Given the description of an element on the screen output the (x, y) to click on. 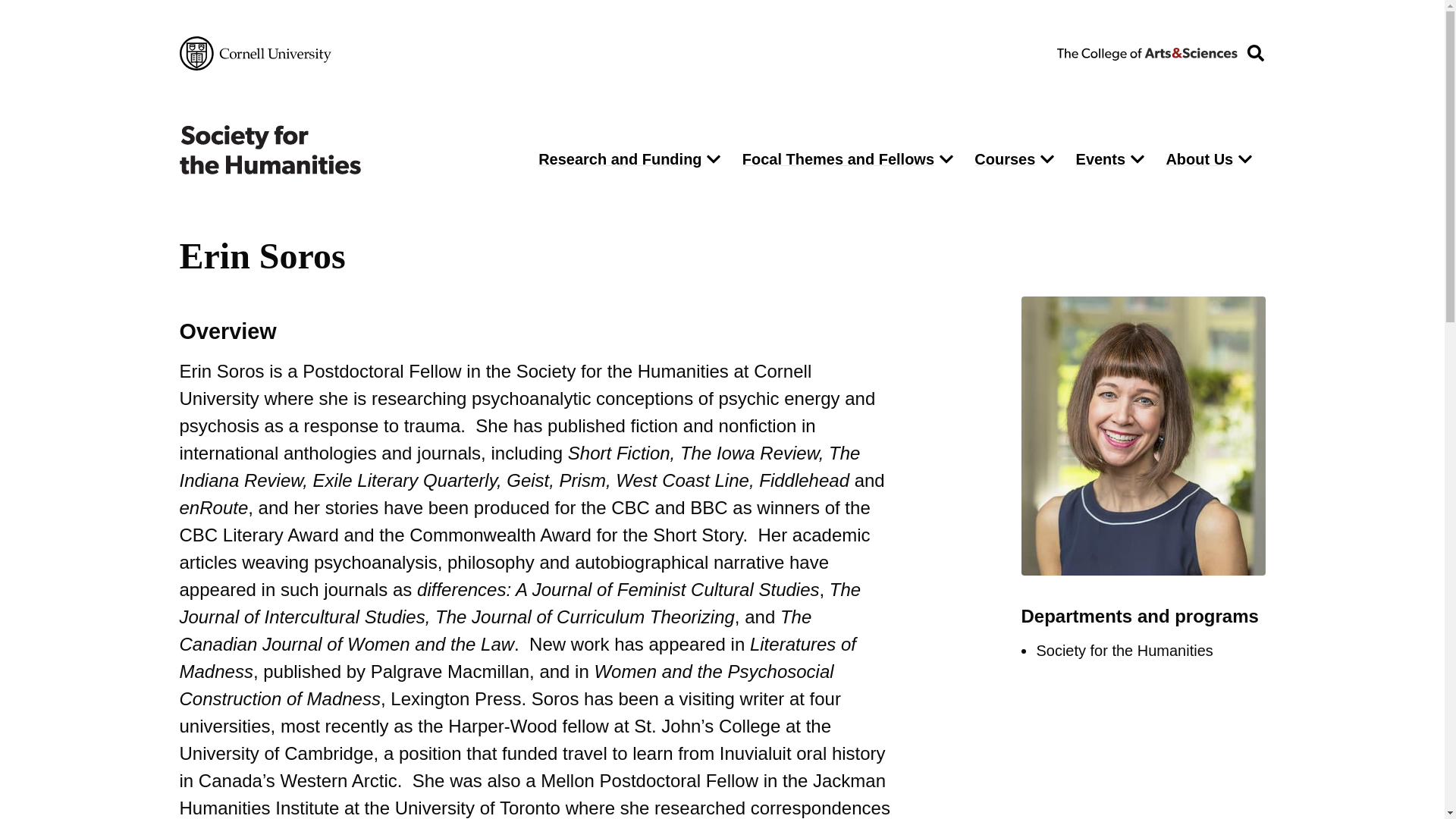
Research and Funding (616, 158)
Courses (1000, 158)
About Us (1195, 158)
Department Homepage (345, 149)
Cornell University (254, 53)
Events (1096, 158)
Cornell University (254, 53)
Open search (1255, 53)
Focal Themes and Fellows (834, 158)
College of Arts and Sciences (1146, 52)
Search (975, 200)
